Given the description of an element on the screen output the (x, y) to click on. 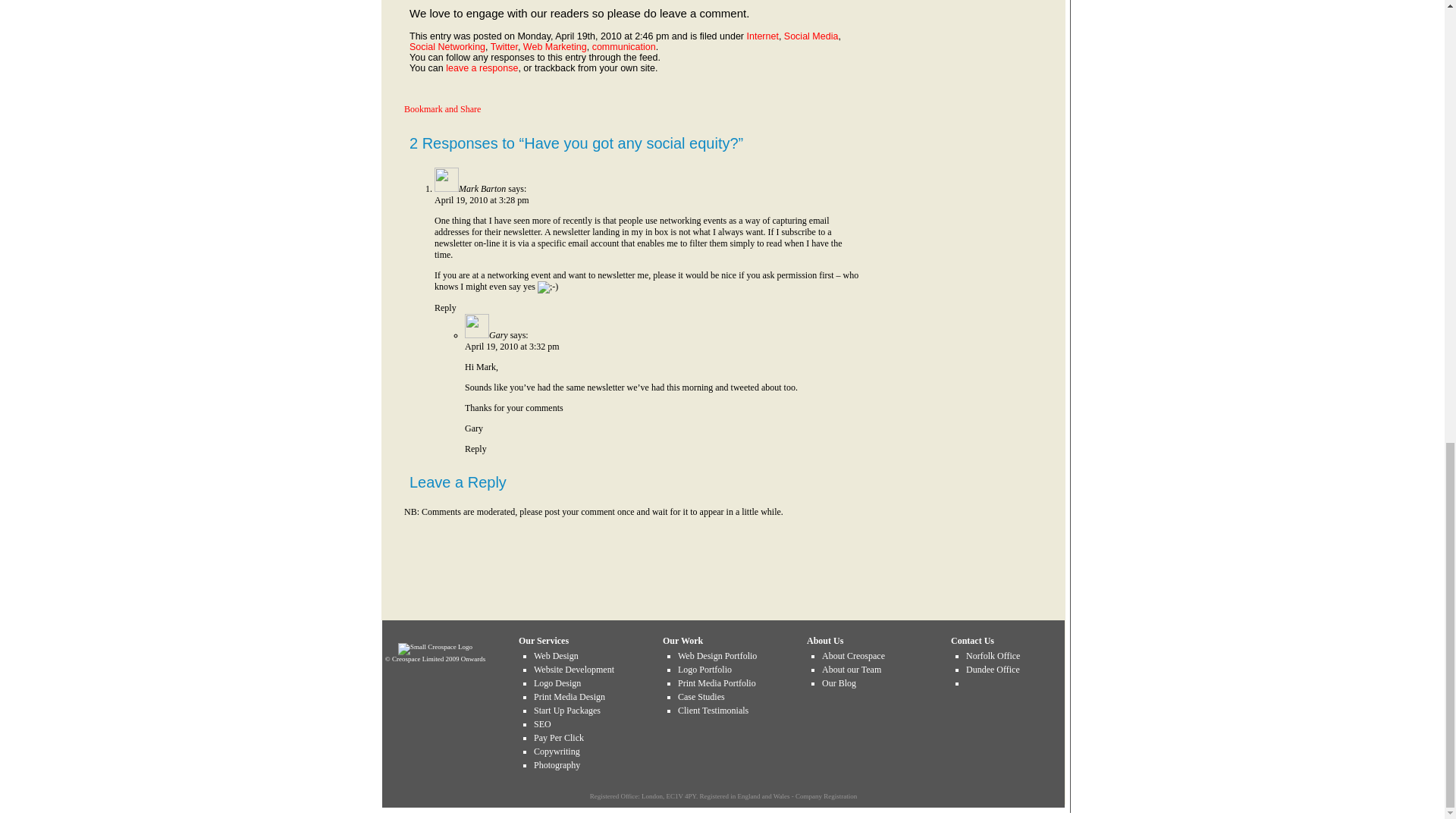
View all posts in Internet (761, 36)
Social Networking (446, 46)
leave a response (481, 68)
Internet (761, 36)
View all posts in Twitter (504, 46)
Twitter (504, 46)
Web Marketing (554, 46)
View all posts in Social Networking (446, 46)
View all posts in Social Media (811, 36)
communication (624, 46)
Social Media (811, 36)
View all posts in Web Marketing (554, 46)
View all posts in communication (624, 46)
